Given the description of an element on the screen output the (x, y) to click on. 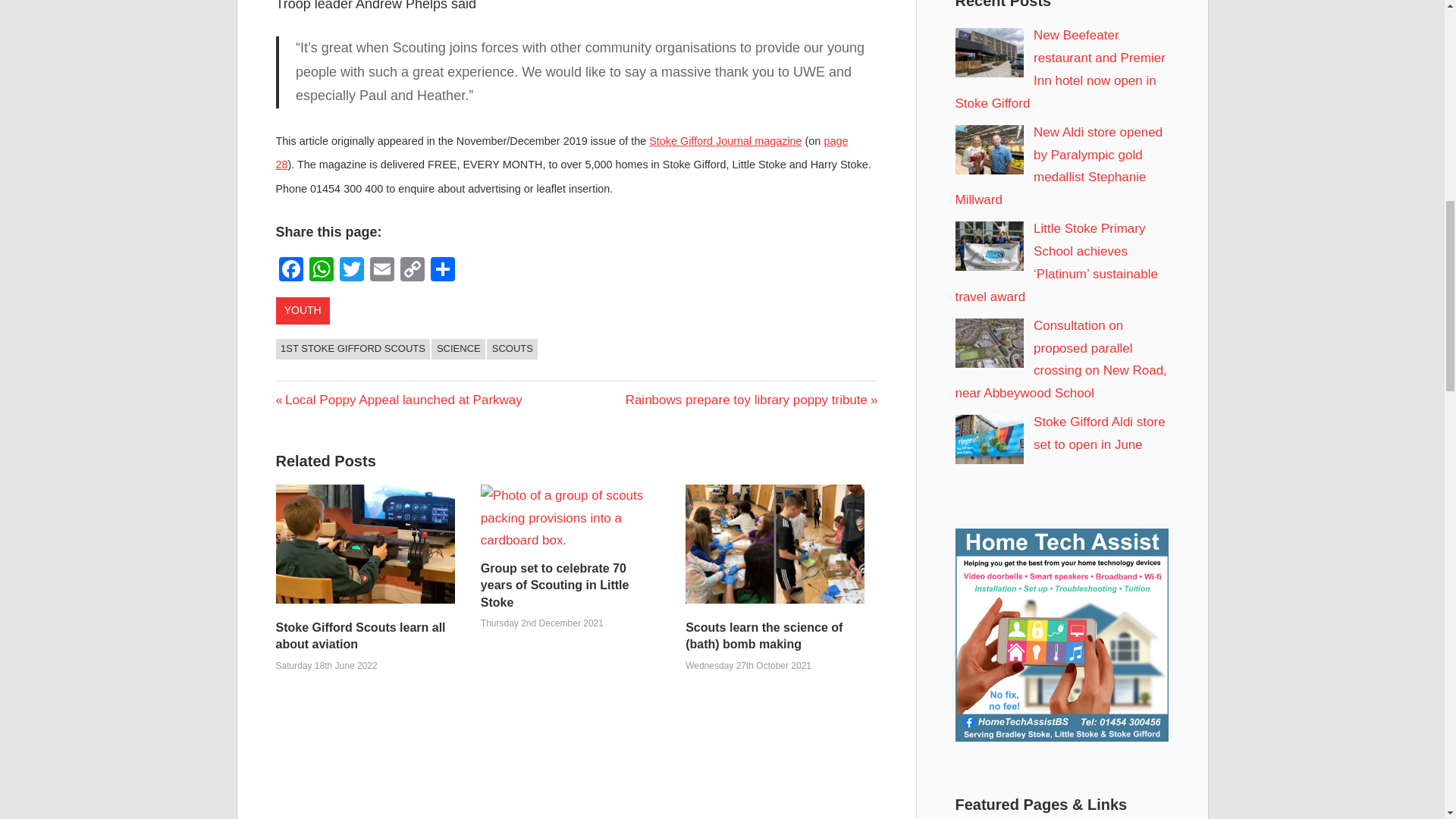
10:33pm (747, 665)
Email (381, 271)
6:49pm (326, 665)
Twitter (351, 271)
WhatsApp (320, 271)
Facebook (290, 271)
Copy Link (412, 271)
8:58pm (542, 623)
